Given the description of an element on the screen output the (x, y) to click on. 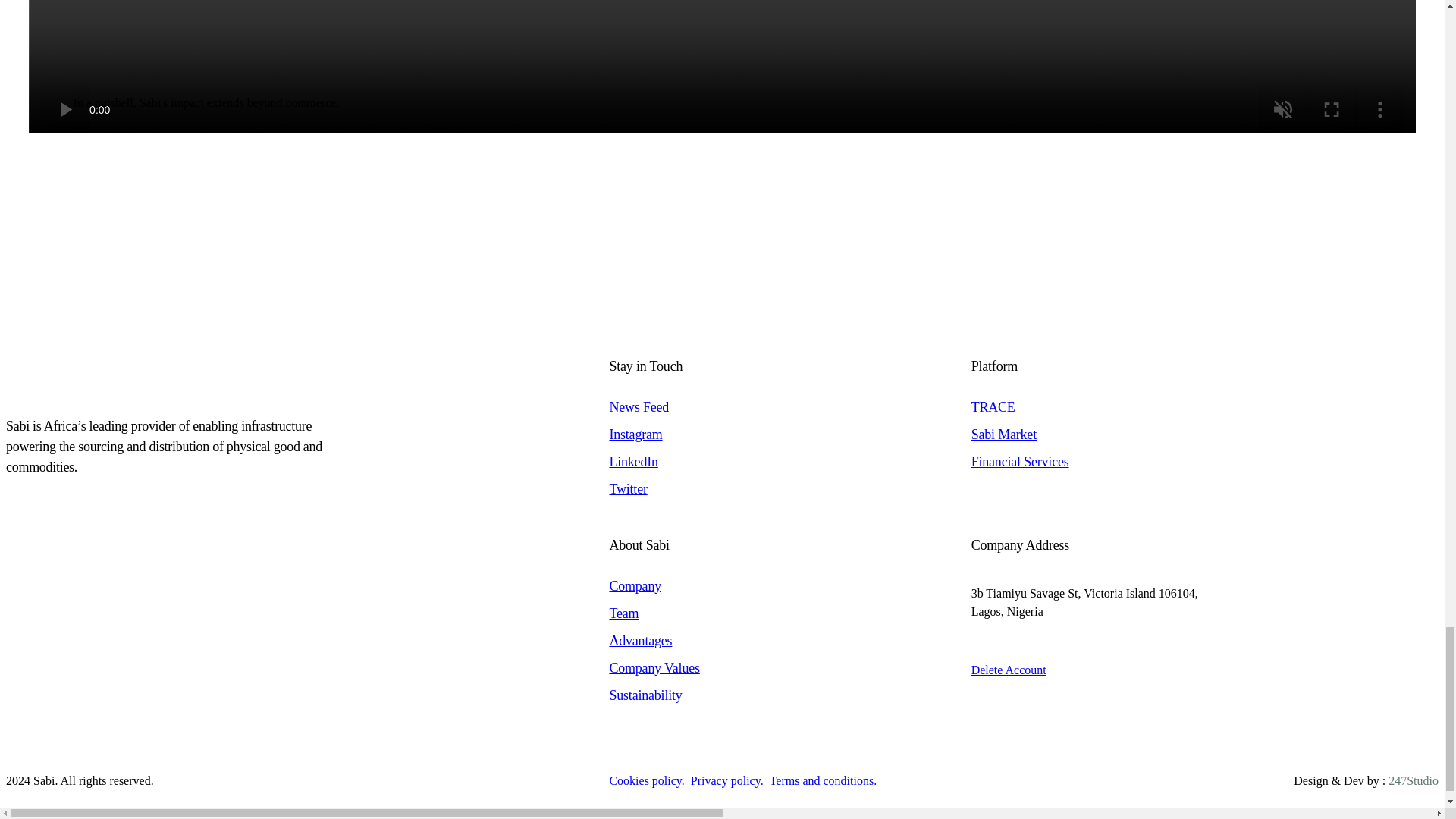
Sabi Market (1144, 433)
Privacy policy. (726, 780)
Twitter (721, 488)
Sustainability (721, 695)
247Studio (1413, 780)
Financial Services (1144, 461)
Instagram (721, 433)
Company (721, 585)
Terms and conditions. (823, 780)
Team (721, 613)
LinkedIn (721, 461)
News Feed (721, 406)
TRACE (1144, 406)
Advantages (721, 640)
Delete Account (1008, 669)
